Given the description of an element on the screen output the (x, y) to click on. 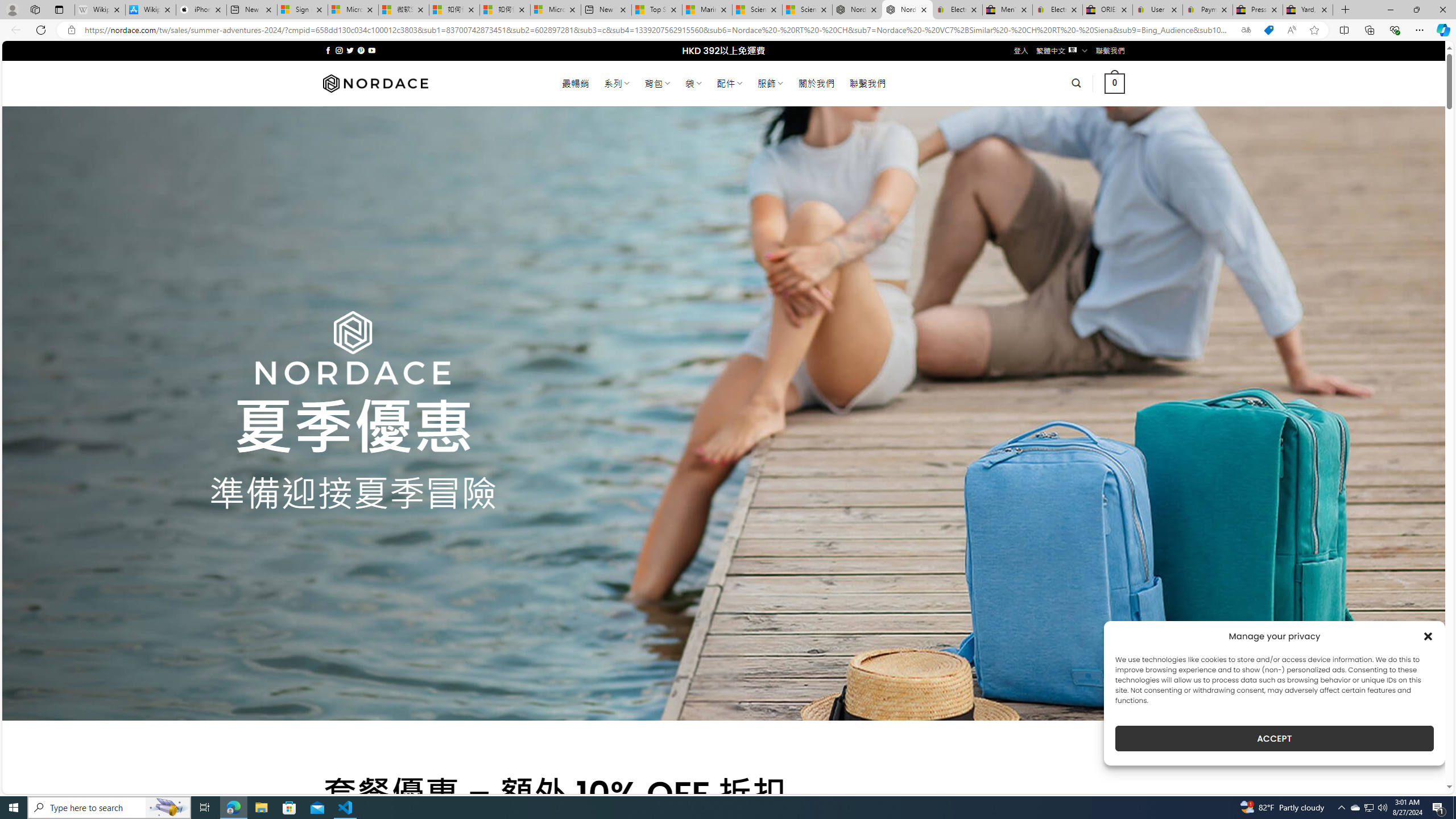
Yard, Garden & Outdoor Living (1308, 9)
Follow on Instagram (338, 50)
ACCEPT (1274, 738)
Shopping in Microsoft Edge (1268, 29)
Microsoft Services Agreement (352, 9)
